Given the description of an element on the screen output the (x, y) to click on. 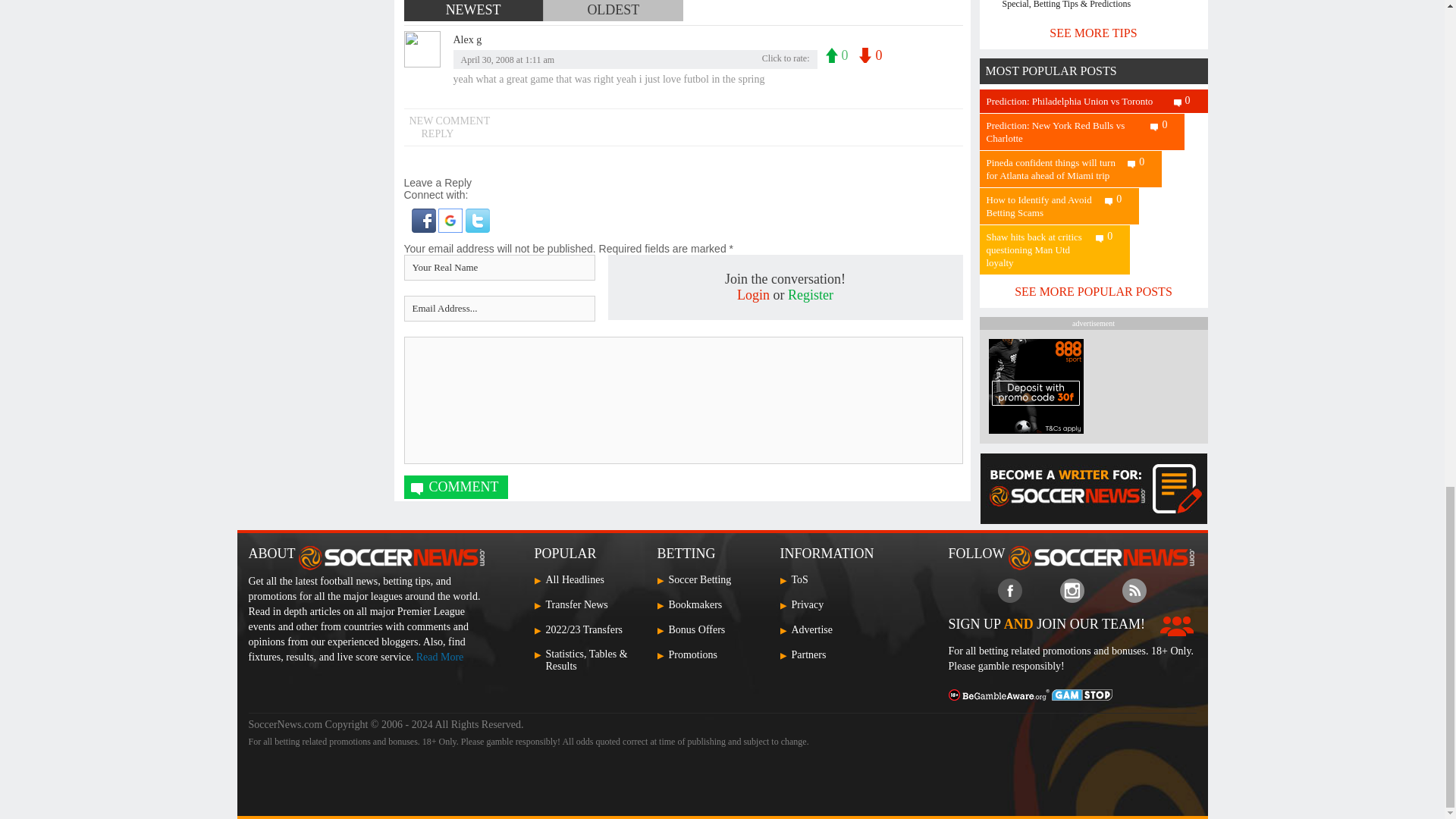
Comment (454, 486)
